Given the description of an element on the screen output the (x, y) to click on. 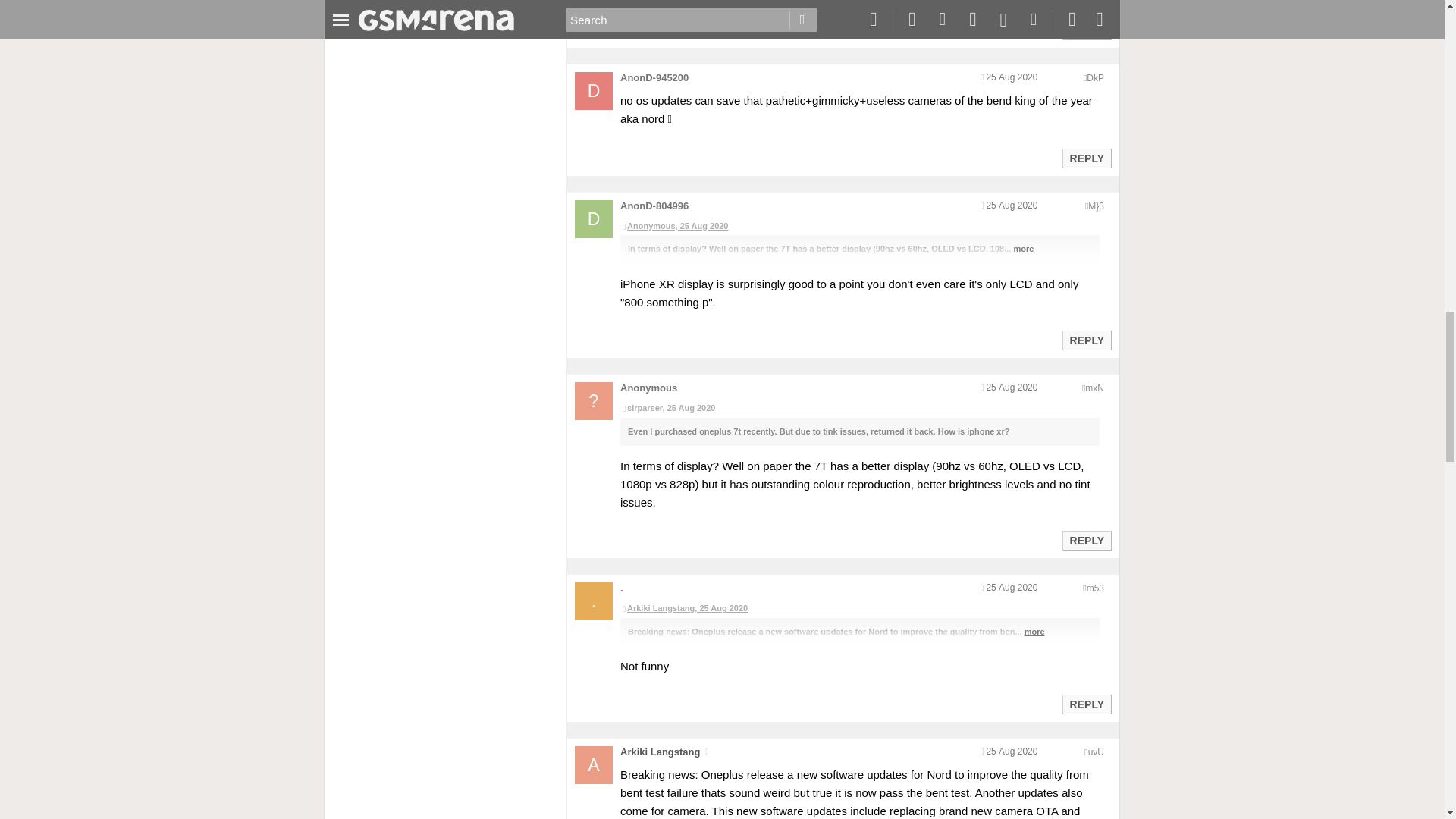
Encoded anonymized location (1095, 205)
Reply to this post (1086, 158)
Reply to this post (1086, 30)
Encoded anonymized location (1094, 77)
